Given the description of an element on the screen output the (x, y) to click on. 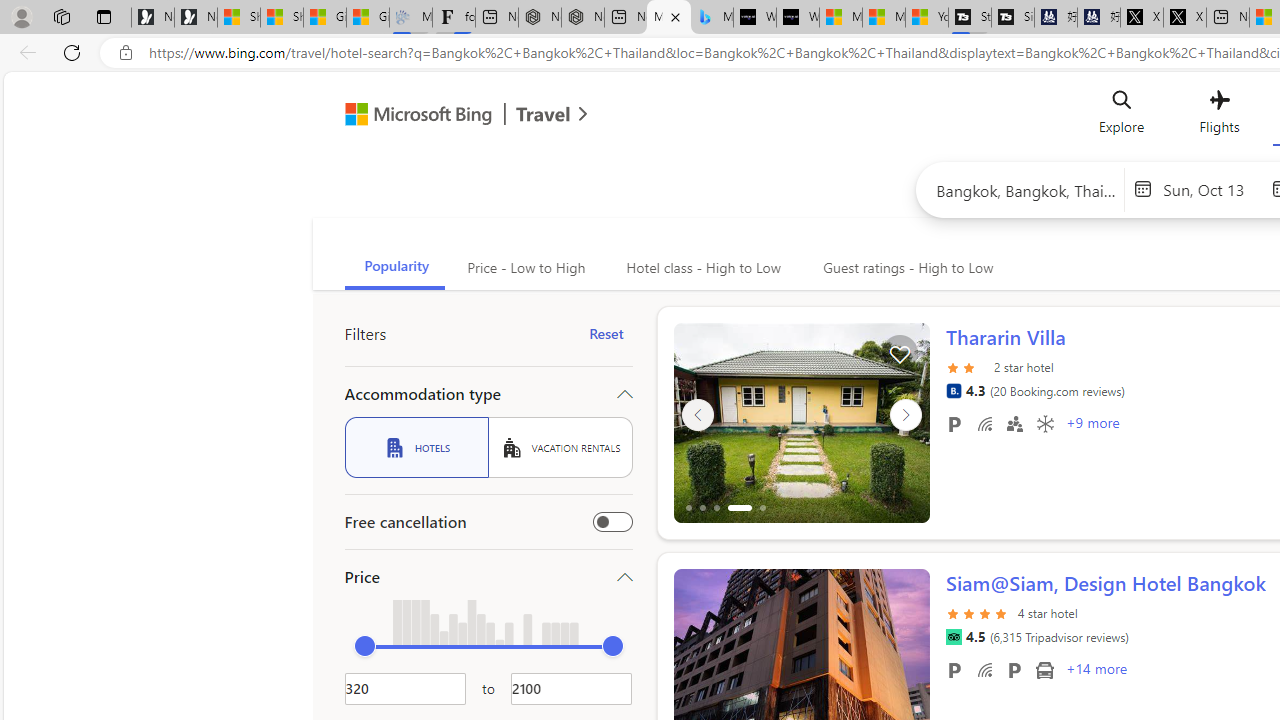
Family friendly (1014, 423)
max  (612, 645)
Travel (543, 116)
Free cancellation (612, 521)
Free parking (953, 669)
Class: msft-travel-logo (543, 114)
ScrollLeft (697, 660)
Valet parking (1014, 669)
min  (364, 645)
Booking.com (953, 390)
Airport transportation (1044, 669)
Reset (606, 333)
